Given the description of an element on the screen output the (x, y) to click on. 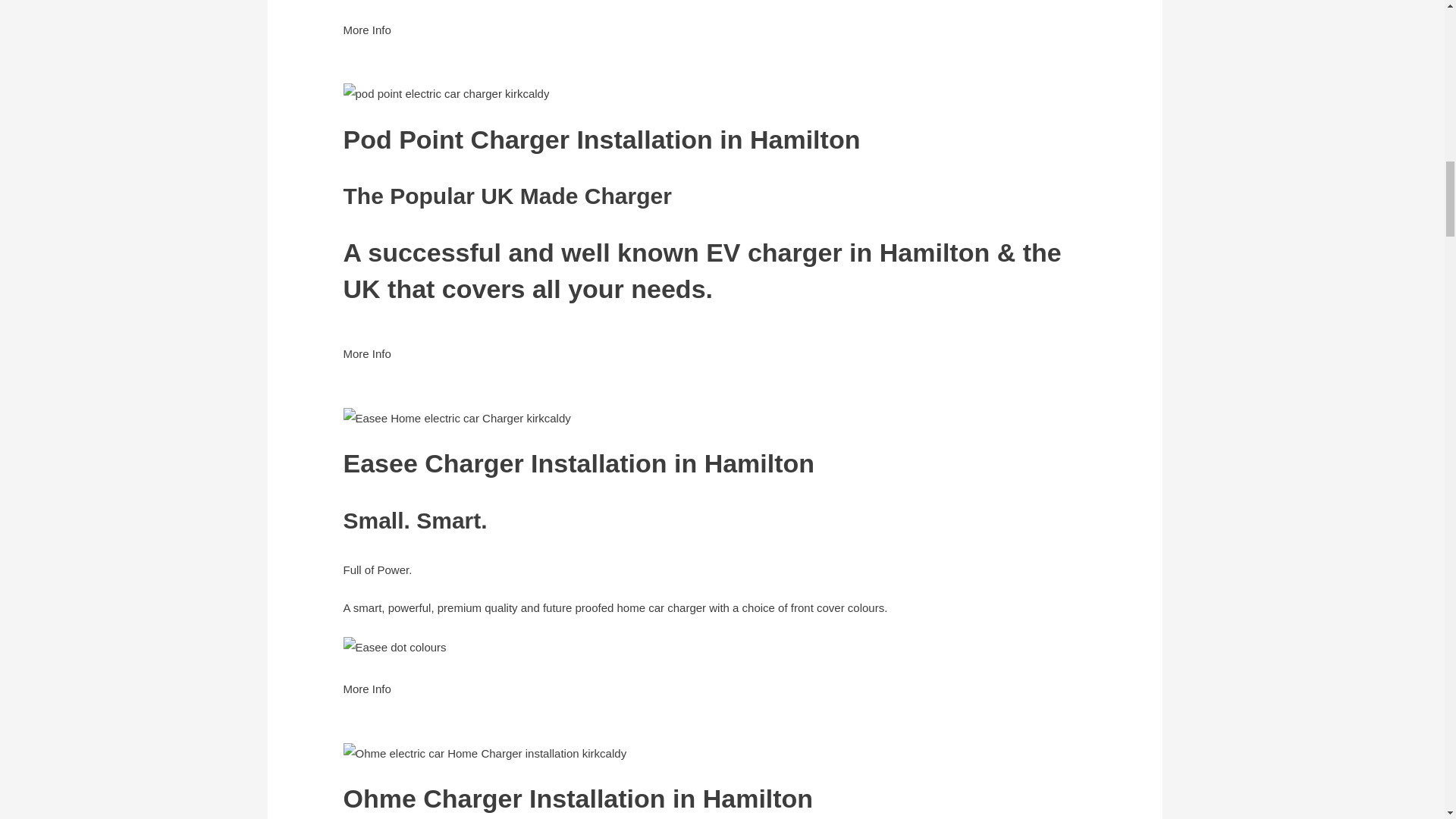
More Info (366, 40)
More Info (366, 699)
More Info (366, 364)
